Given the description of an element on the screen output the (x, y) to click on. 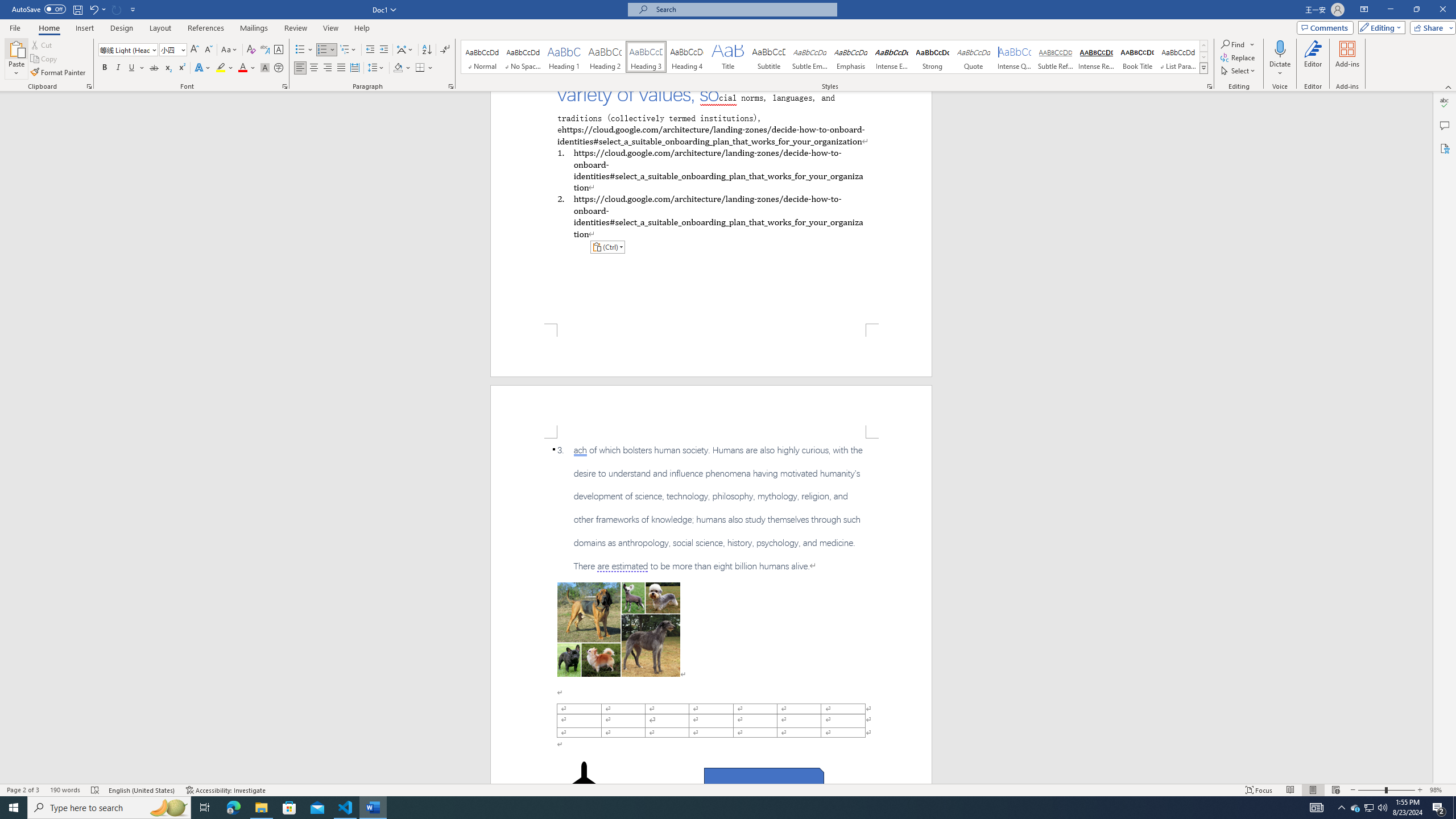
Increase Indent (383, 49)
Subtle Reference (1055, 56)
Text Highlight Color (224, 67)
Accessibility (1444, 147)
Airplane with solid fill (584, 783)
Spelling and Grammar Check Errors (94, 790)
Select (1238, 69)
Quote (973, 56)
